Given the description of an element on the screen output the (x, y) to click on. 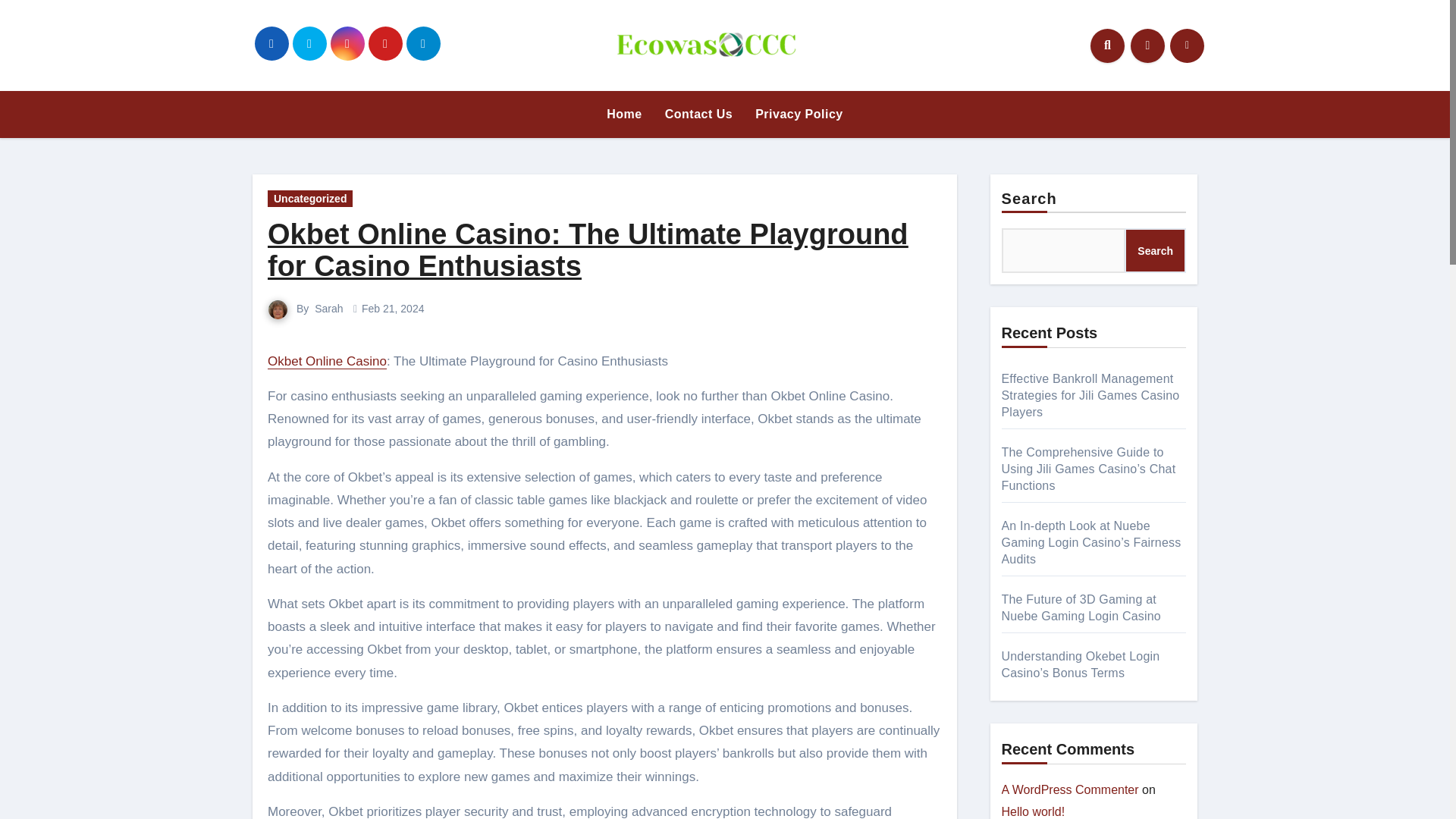
Privacy Policy (799, 114)
Home (623, 114)
Okbet Online Casino (327, 360)
Home (623, 114)
Sarah (328, 308)
Contact Us (698, 114)
Uncategorized (309, 198)
